Given the description of an element on the screen output the (x, y) to click on. 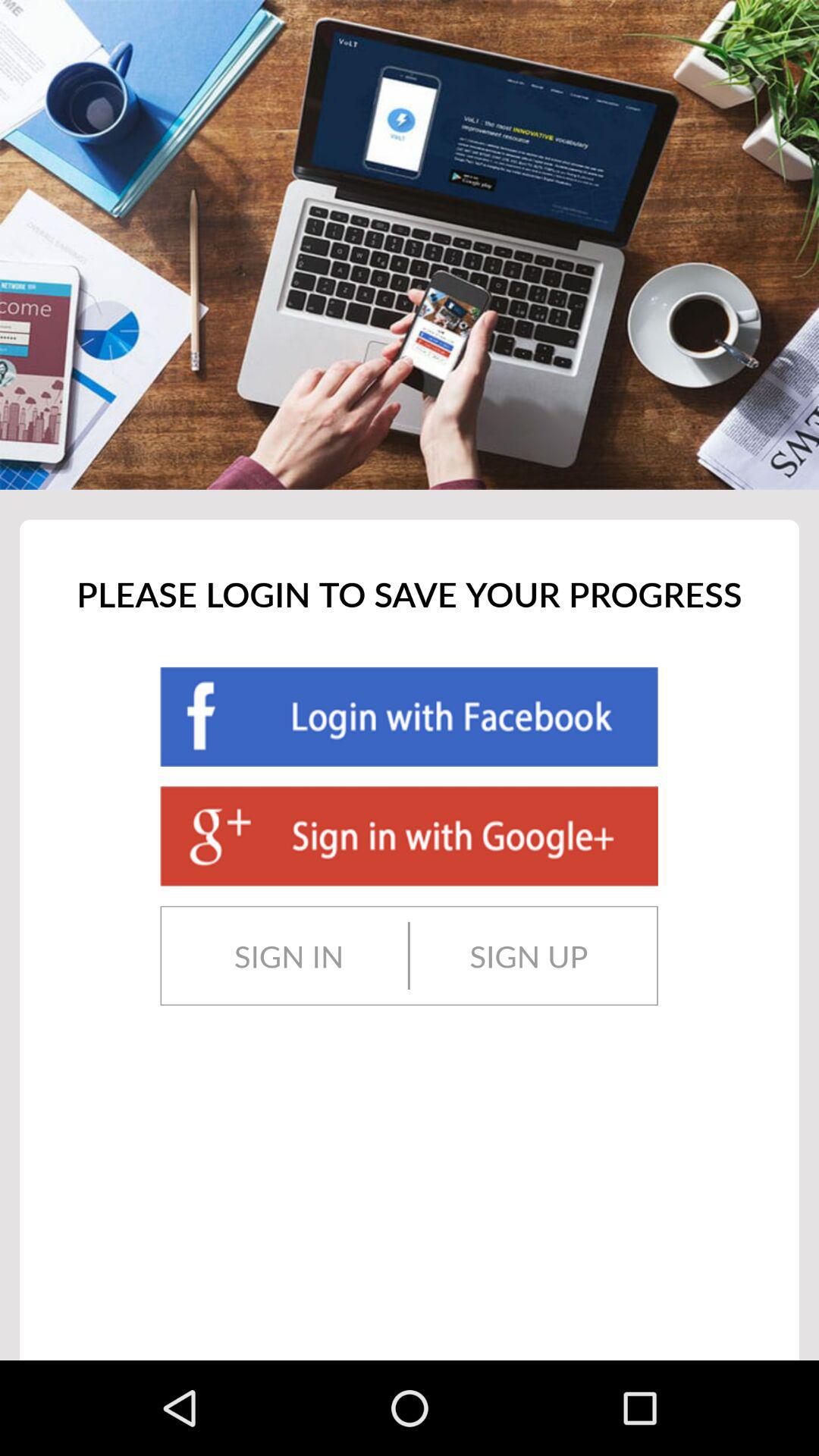
press sign up item (529, 955)
